Given the description of an element on the screen output the (x, y) to click on. 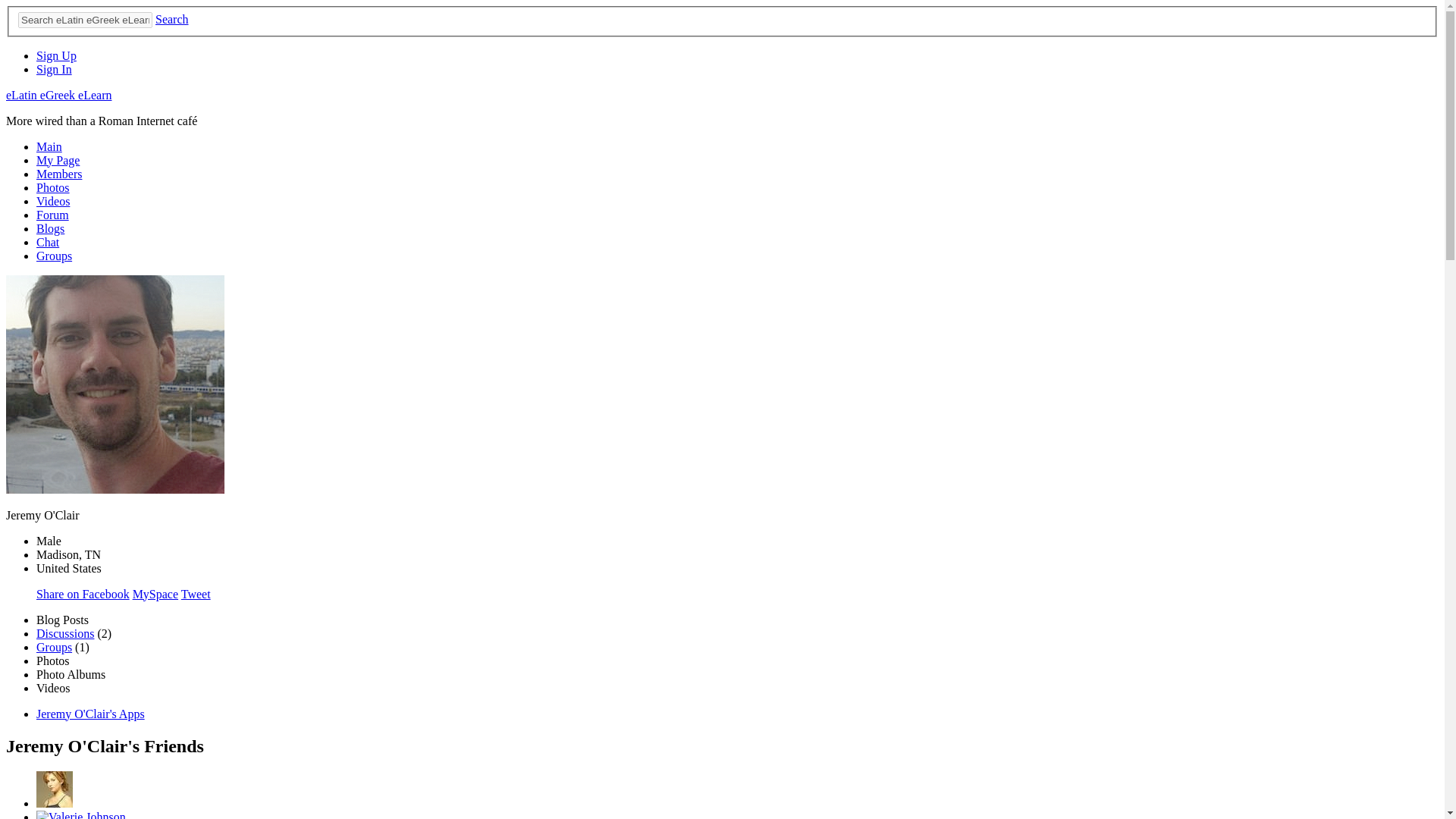
Itzel Jenkins (54, 802)
eLatin eGreek eLearn (58, 94)
Forum (52, 214)
Groups (53, 646)
Sign Up (56, 55)
Discussions (65, 633)
Share on Facebook (82, 594)
Videos (52, 201)
Sign In (53, 69)
Groups (53, 255)
Chat (47, 241)
Search eLatin eGreek eLearn (84, 19)
My Page (58, 160)
Jeremy O'Clair's Apps (90, 713)
Search eLatin eGreek eLearn (84, 19)
